Given the description of an element on the screen output the (x, y) to click on. 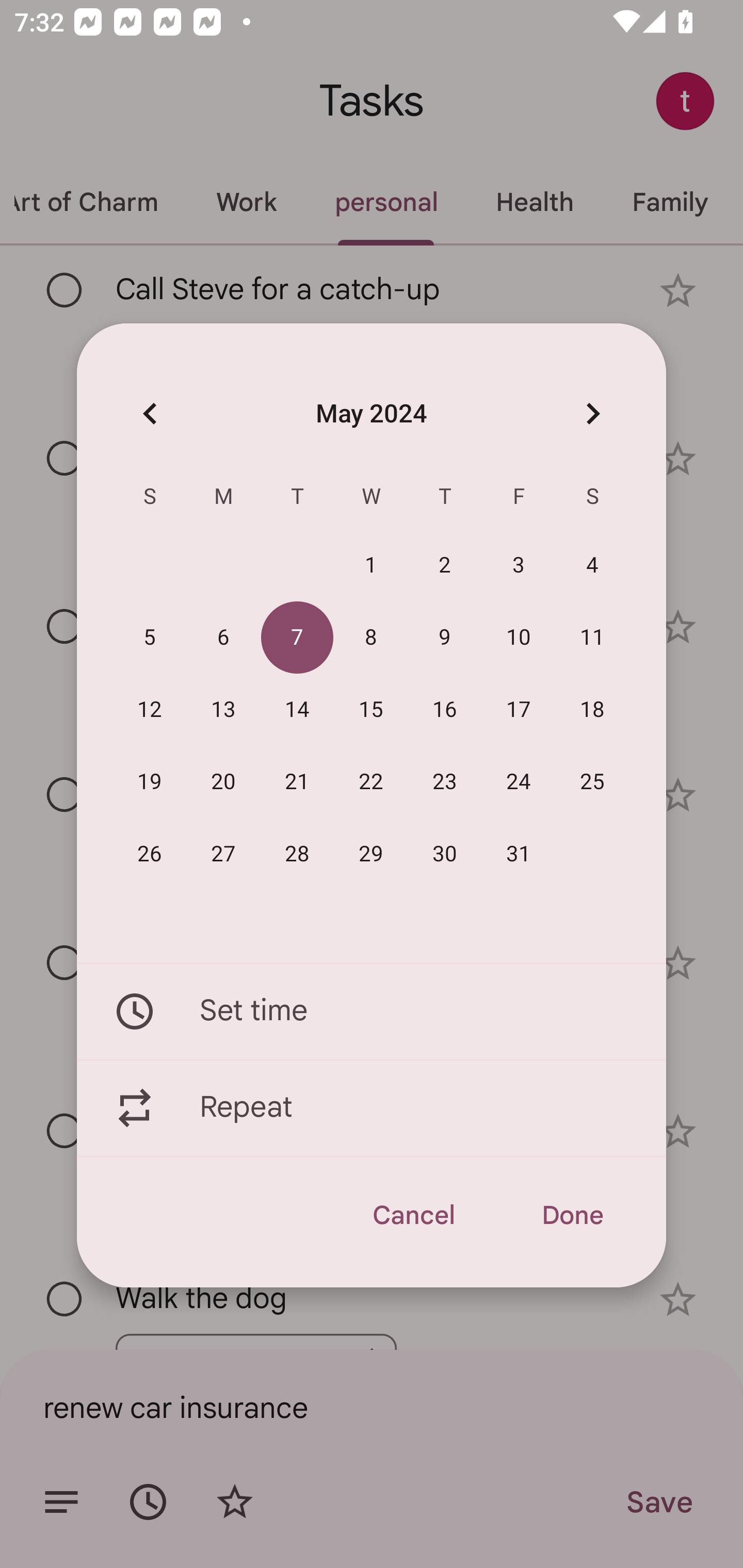
Previous month (149, 413)
Next month (592, 413)
1 01 May 2024 (370, 565)
2 02 May 2024 (444, 565)
3 03 May 2024 (518, 565)
4 04 May 2024 (592, 565)
5 05 May 2024 (149, 638)
6 06 May 2024 (223, 638)
7 07 May 2024 (297, 638)
8 08 May 2024 (370, 638)
9 09 May 2024 (444, 638)
10 10 May 2024 (518, 638)
11 11 May 2024 (592, 638)
12 12 May 2024 (149, 710)
13 13 May 2024 (223, 710)
14 14 May 2024 (297, 710)
15 15 May 2024 (370, 710)
16 16 May 2024 (444, 710)
17 17 May 2024 (518, 710)
18 18 May 2024 (592, 710)
19 19 May 2024 (149, 782)
20 20 May 2024 (223, 782)
21 21 May 2024 (297, 782)
22 22 May 2024 (370, 782)
23 23 May 2024 (444, 782)
24 24 May 2024 (518, 782)
25 25 May 2024 (592, 782)
26 26 May 2024 (149, 854)
27 27 May 2024 (223, 854)
28 28 May 2024 (297, 854)
29 29 May 2024 (370, 854)
30 30 May 2024 (444, 854)
31 31 May 2024 (518, 854)
Set time (371, 1011)
Repeat (371, 1108)
Cancel (412, 1215)
Done (571, 1215)
